Given the description of an element on the screen output the (x, y) to click on. 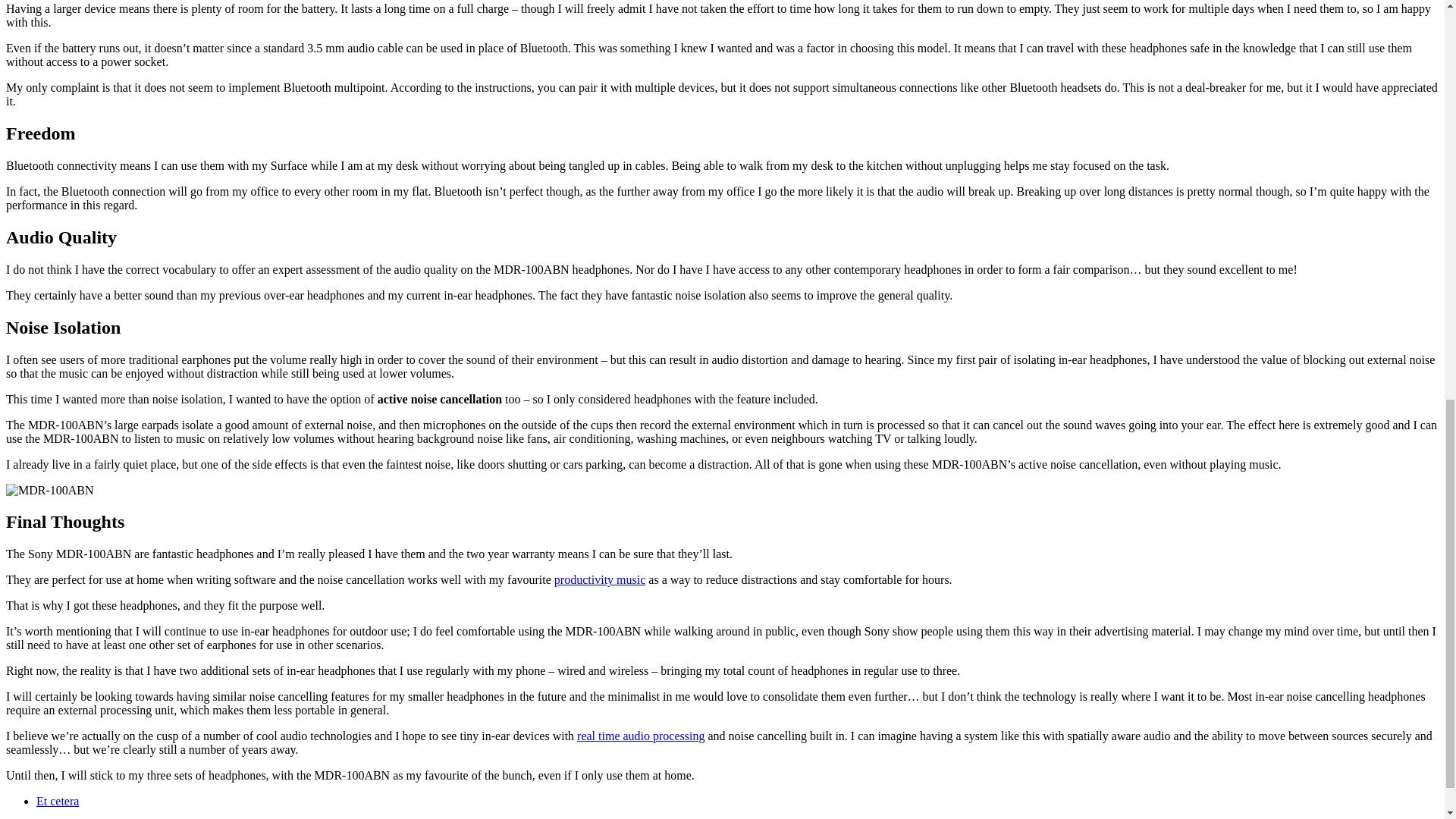
productivity music (599, 579)
real time audio processing (640, 735)
Et cetera (57, 800)
